Given the description of an element on the screen output the (x, y) to click on. 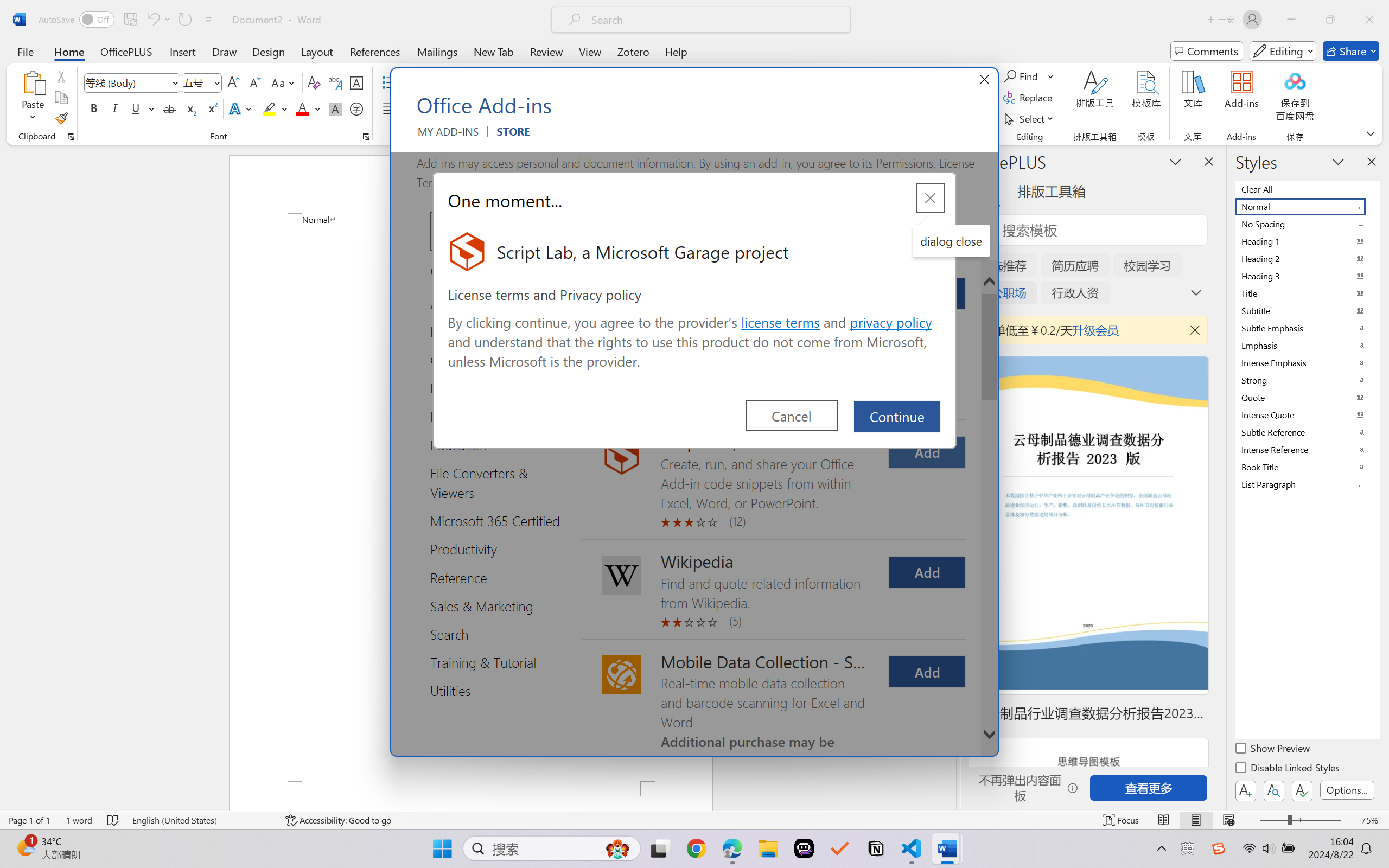
Comments (1206, 50)
Mailings (437, 51)
Font Color Red (302, 108)
Format Painter (60, 118)
Focus  (1121, 819)
Text Effects and Typography (241, 108)
Subtle Reference (1306, 431)
Zoom Out (1273, 819)
Zoom (1300, 819)
